Given the description of an element on the screen output the (x, y) to click on. 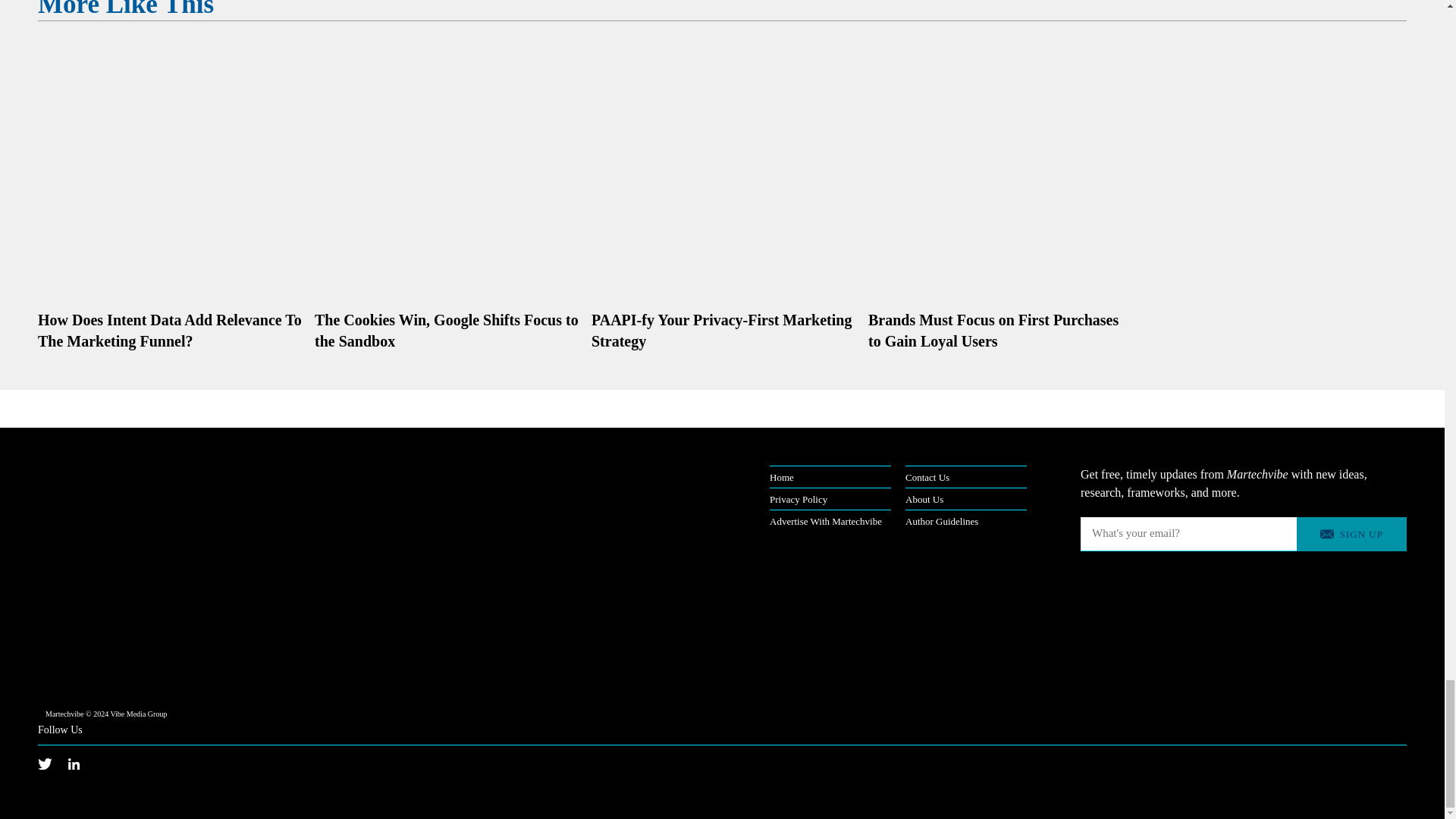
Twitter (52, 762)
Linkedin (82, 762)
